Given the description of an element on the screen output the (x, y) to click on. 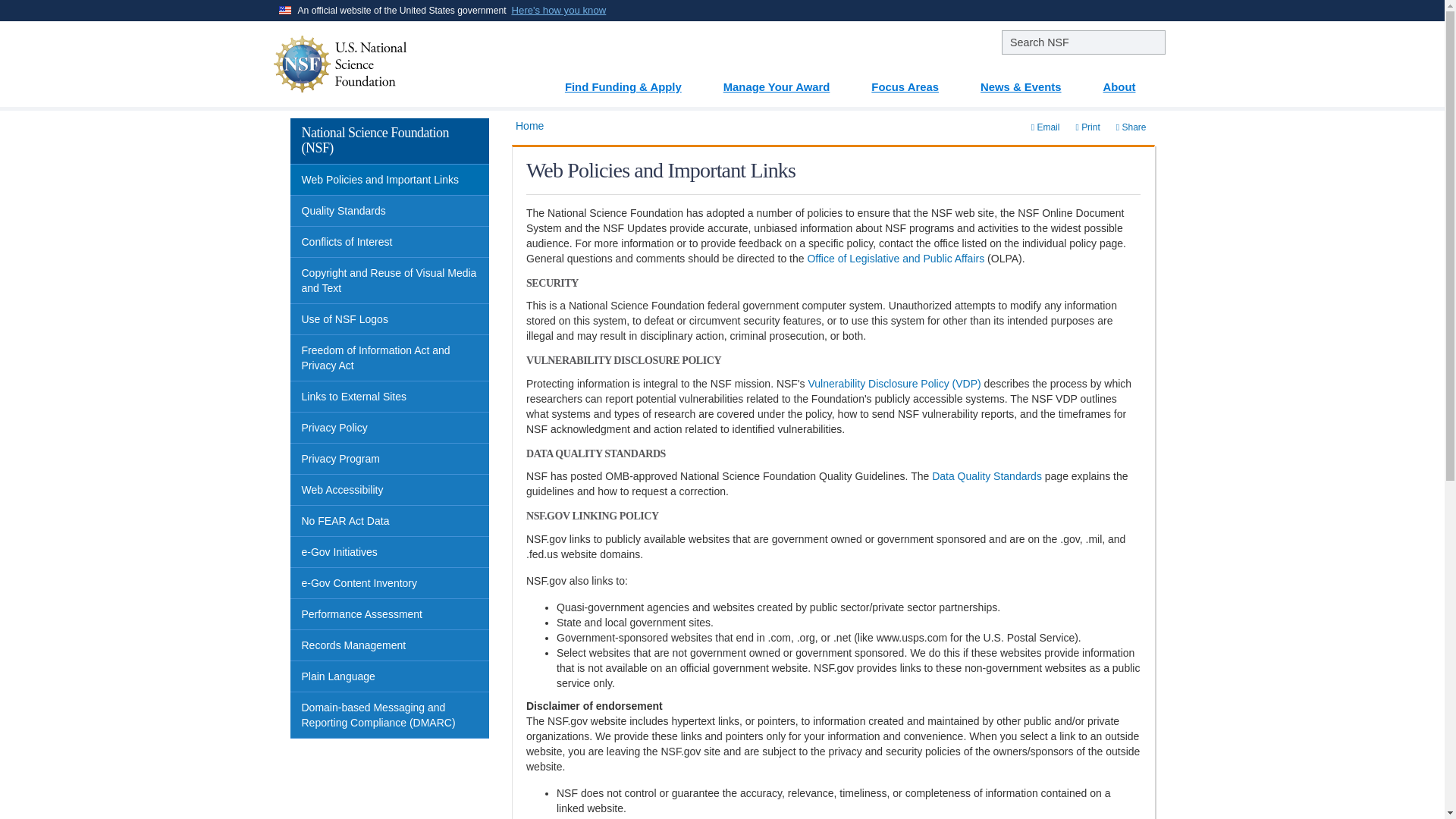
Conflicts of Interest (389, 241)
Here's how you know (559, 10)
No FEAR Act Data (389, 521)
NSF - National Science Foundation - Home (386, 64)
Links to External Sites (389, 396)
Privacy Program (389, 459)
e-Gov Initiatives (389, 552)
Quality Standards (389, 210)
Print (1087, 127)
search (1082, 42)
